Given the description of an element on the screen output the (x, y) to click on. 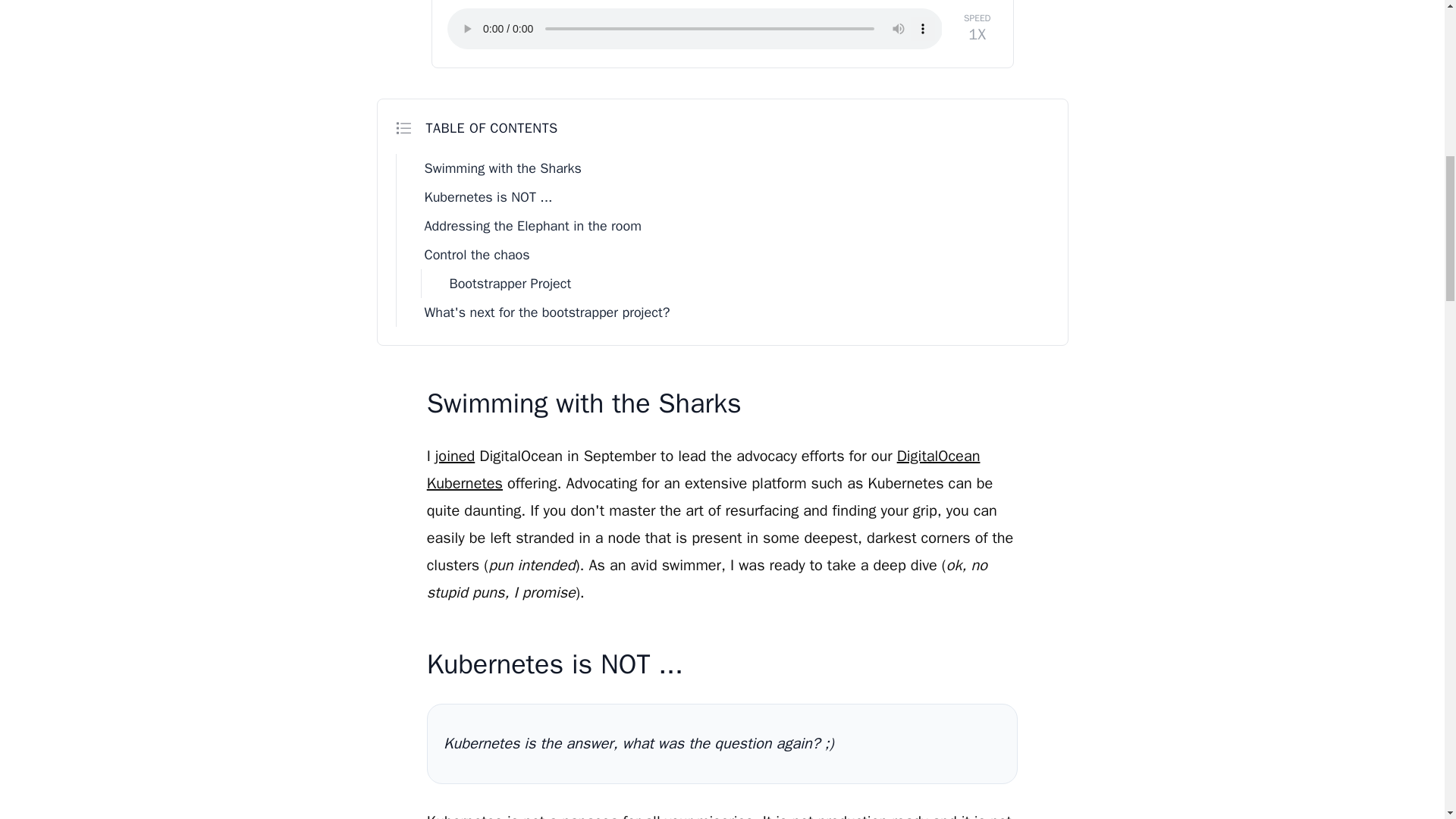
Kubernetes is not (485, 815)
Kubernetes is NOT ... (734, 196)
Bootstrapper Project (747, 283)
Control the chaos (734, 254)
Swimming with the Sharks (734, 167)
Addressing the Elephant in the room (734, 225)
DigitalOcean Kubernetes (702, 469)
joined (454, 456)
What's next for the bootstrapper project? (734, 312)
